Given the description of an element on the screen output the (x, y) to click on. 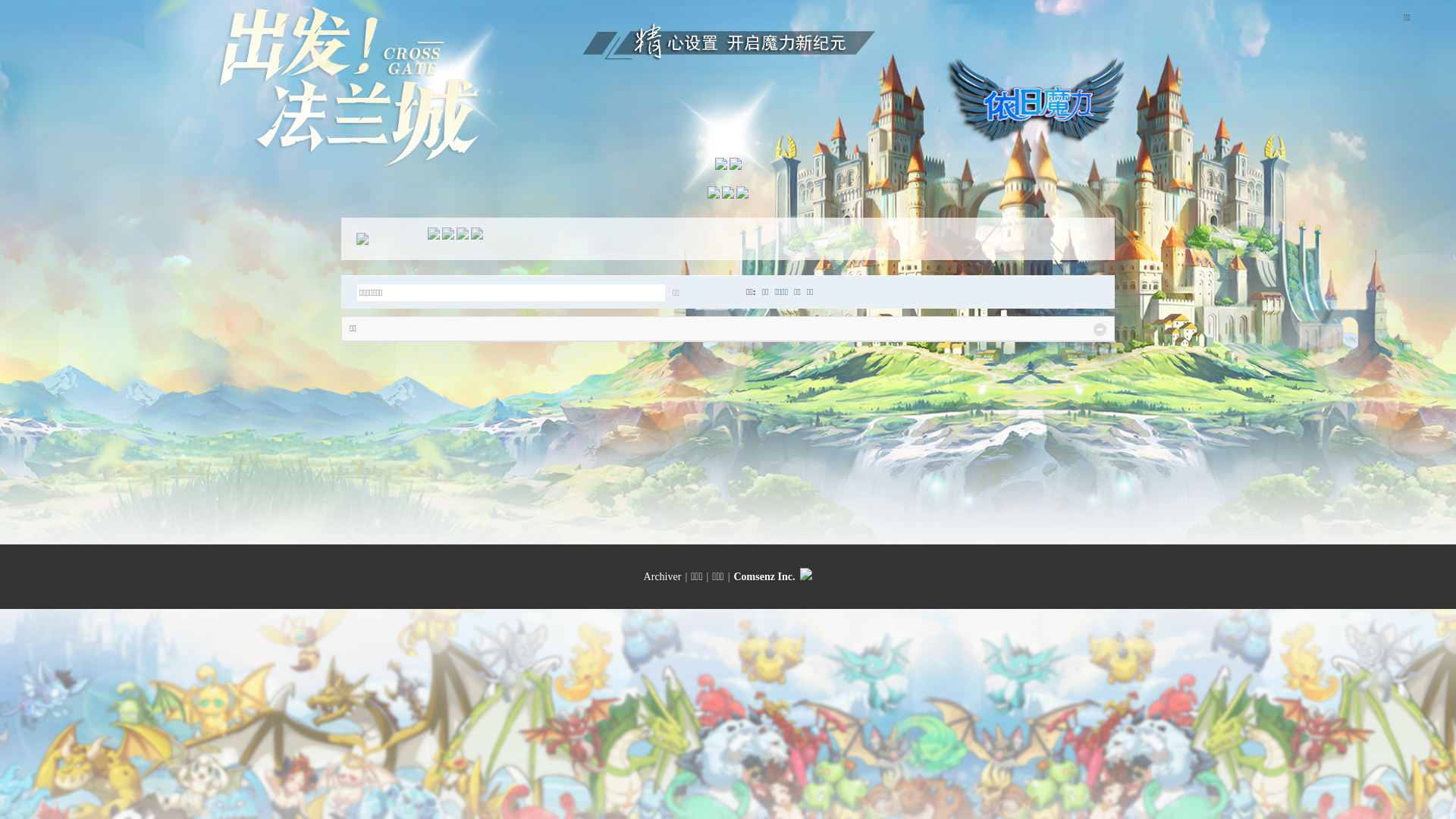
Archiver Element type: text (662, 576)
Comsenz Inc. Element type: text (764, 576)
true Element type: text (722, 292)
